Given the description of an element on the screen output the (x, y) to click on. 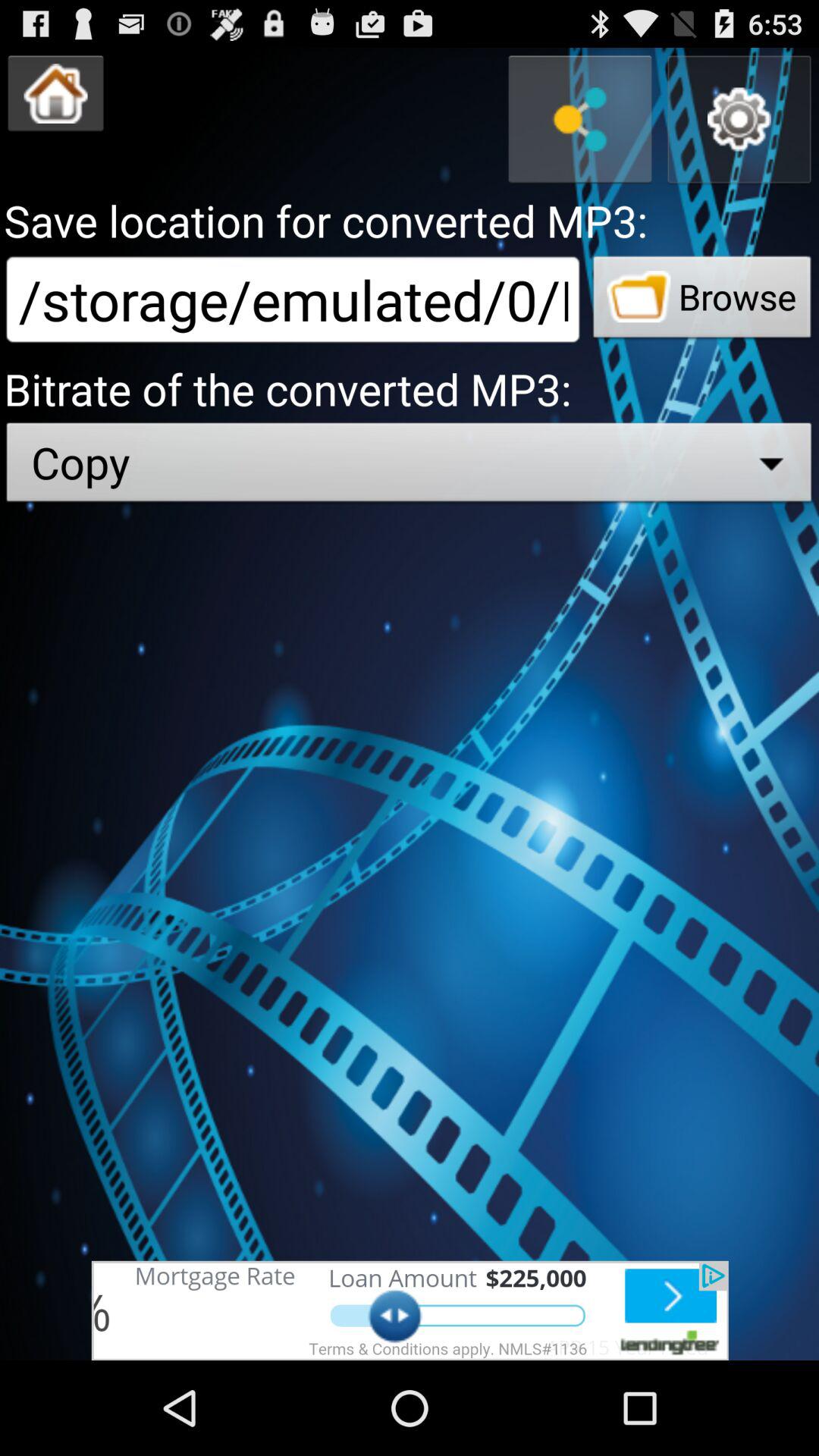
share mp3 (579, 119)
